Given the description of an element on the screen output the (x, y) to click on. 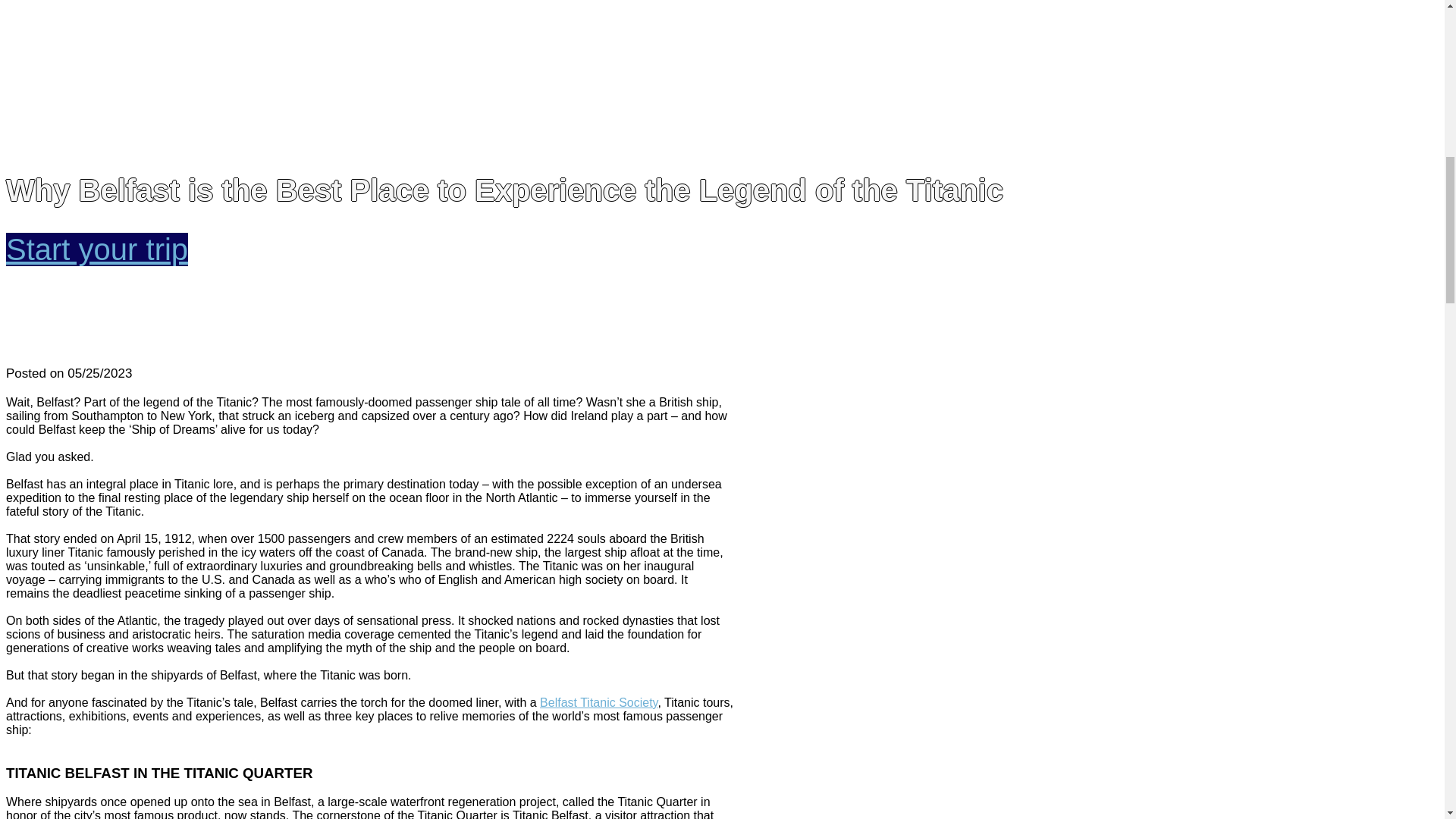
Start your trip (96, 249)
Belfast Titanic Society (599, 702)
